Given the description of an element on the screen output the (x, y) to click on. 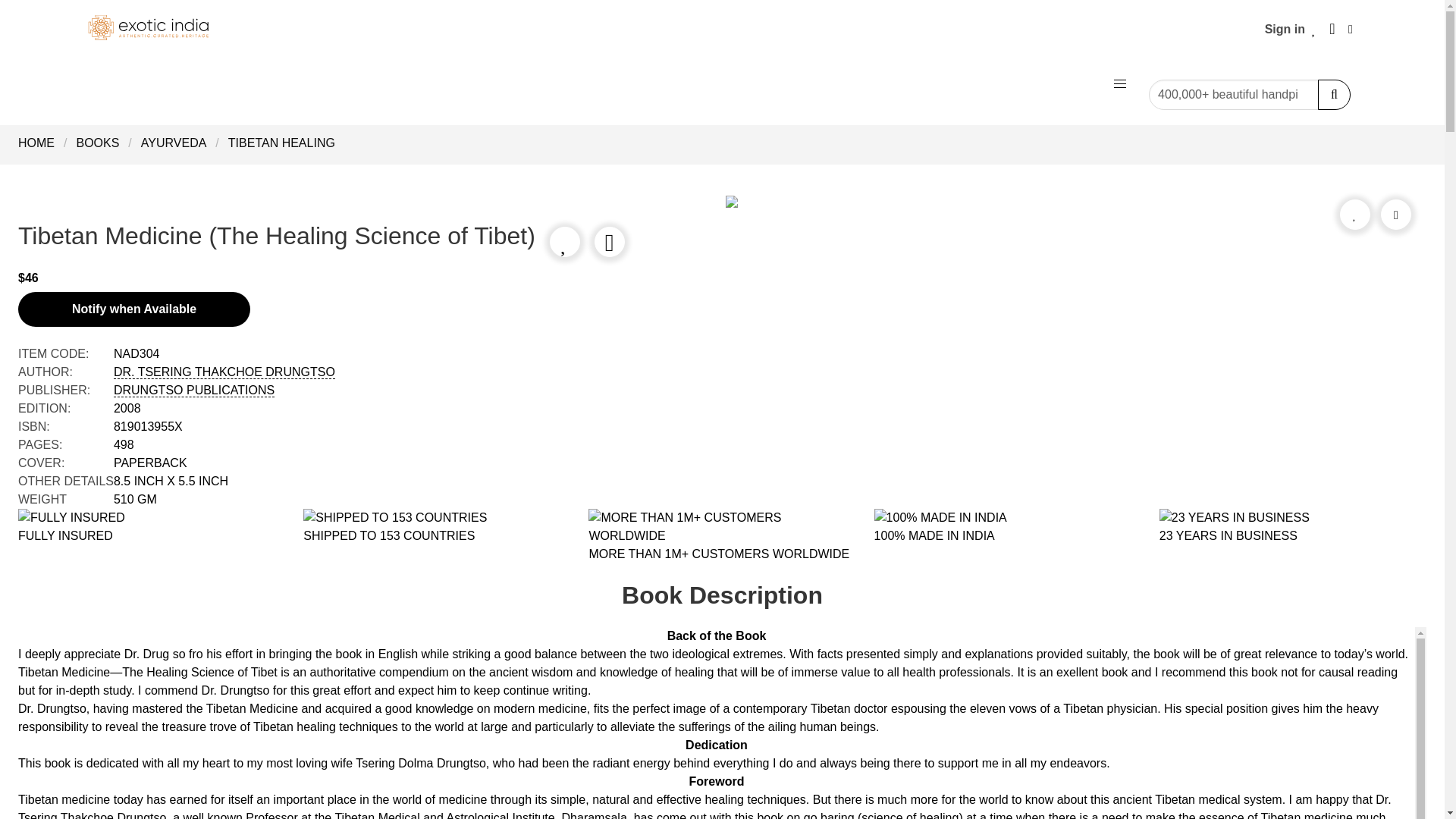
Wishlist (1313, 29)
Save to Wishlist (1354, 214)
Ayurveda (173, 143)
Tibetan Healing (281, 143)
Home (40, 143)
Sign in (1284, 29)
Books (97, 143)
DR. TSERING THAKCHOE DRUNGTSO (223, 372)
TIBETAN HEALING (281, 143)
